Given the description of an element on the screen output the (x, y) to click on. 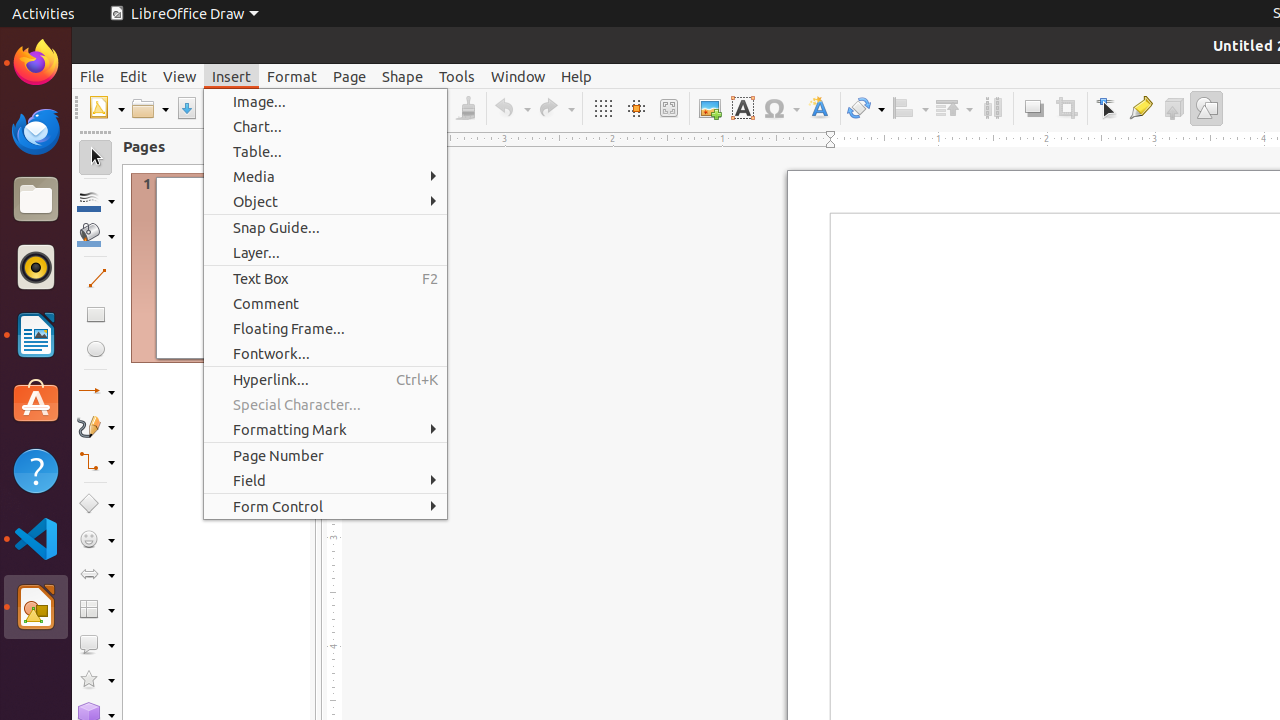
File Element type: menu (92, 76)
Edit Points Element type: push-button (1107, 108)
Rhythmbox Element type: push-button (36, 267)
Undo Element type: push-button (512, 108)
Comment Element type: menu-item (325, 303)
